Given the description of an element on the screen output the (x, y) to click on. 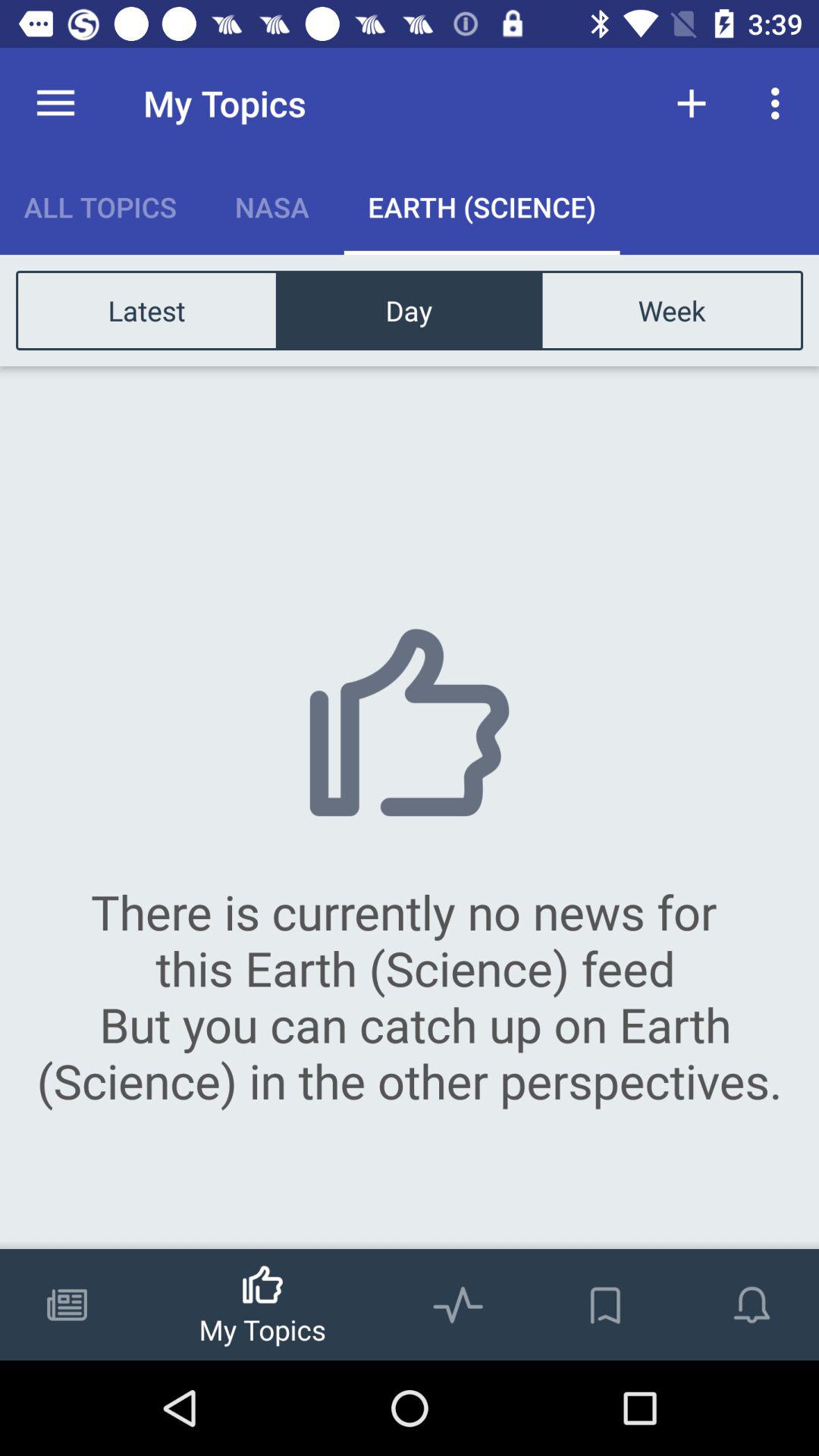
turn on item next to the day (146, 310)
